Given the description of an element on the screen output the (x, y) to click on. 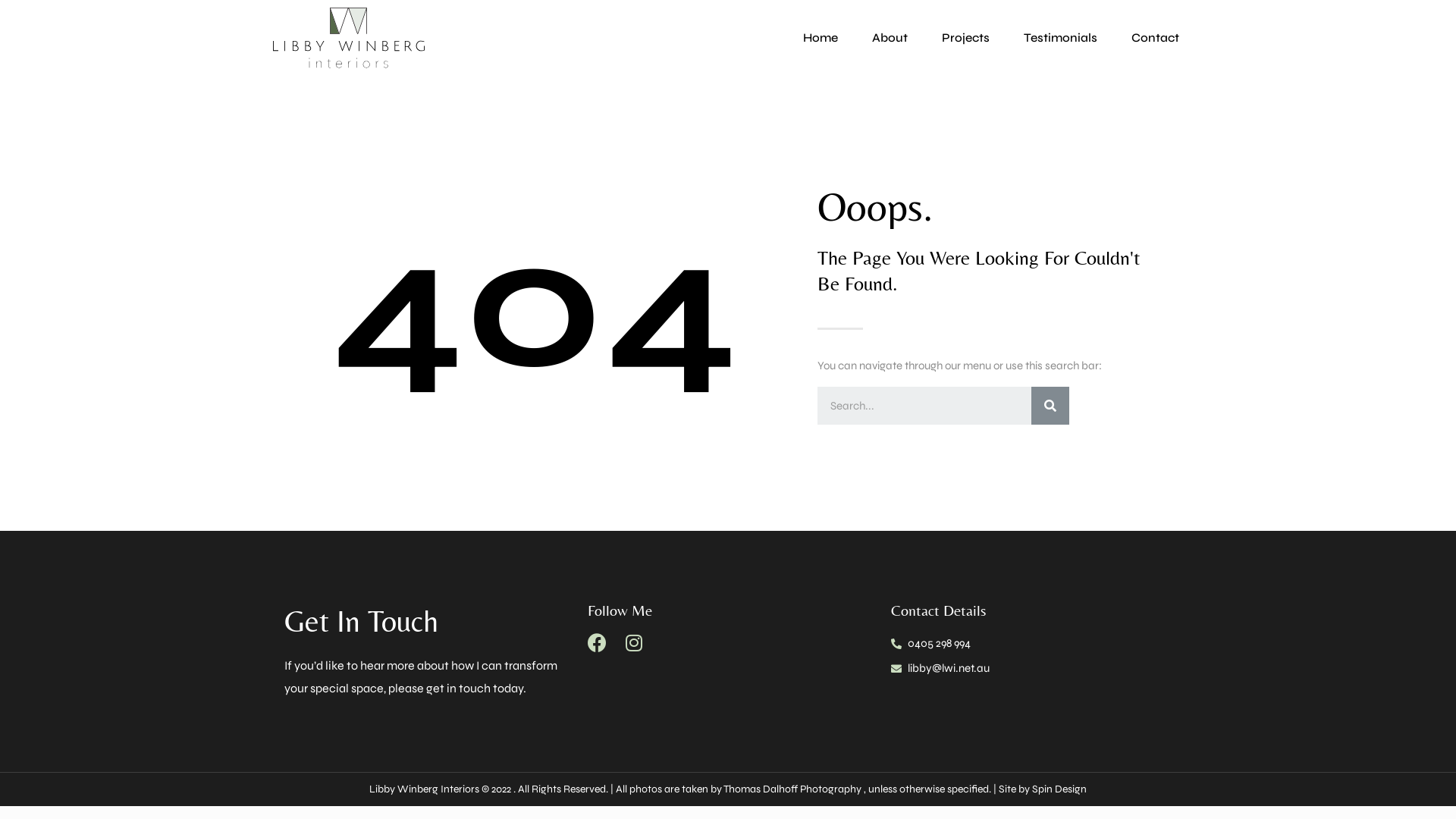
About Element type: text (889, 37)
Contact Element type: text (1155, 37)
Dalhoff Photography Element type: text (812, 788)
Search Element type: hover (1050, 405)
Projects Element type: text (965, 37)
Spin Design Element type: text (1059, 788)
0405 298 994 Element type: text (1029, 643)
Home Element type: text (820, 37)
libby@lwi.net.au Element type: text (1029, 668)
Search Element type: hover (924, 405)
Testimonials Element type: text (1060, 37)
